Given the description of an element on the screen output the (x, y) to click on. 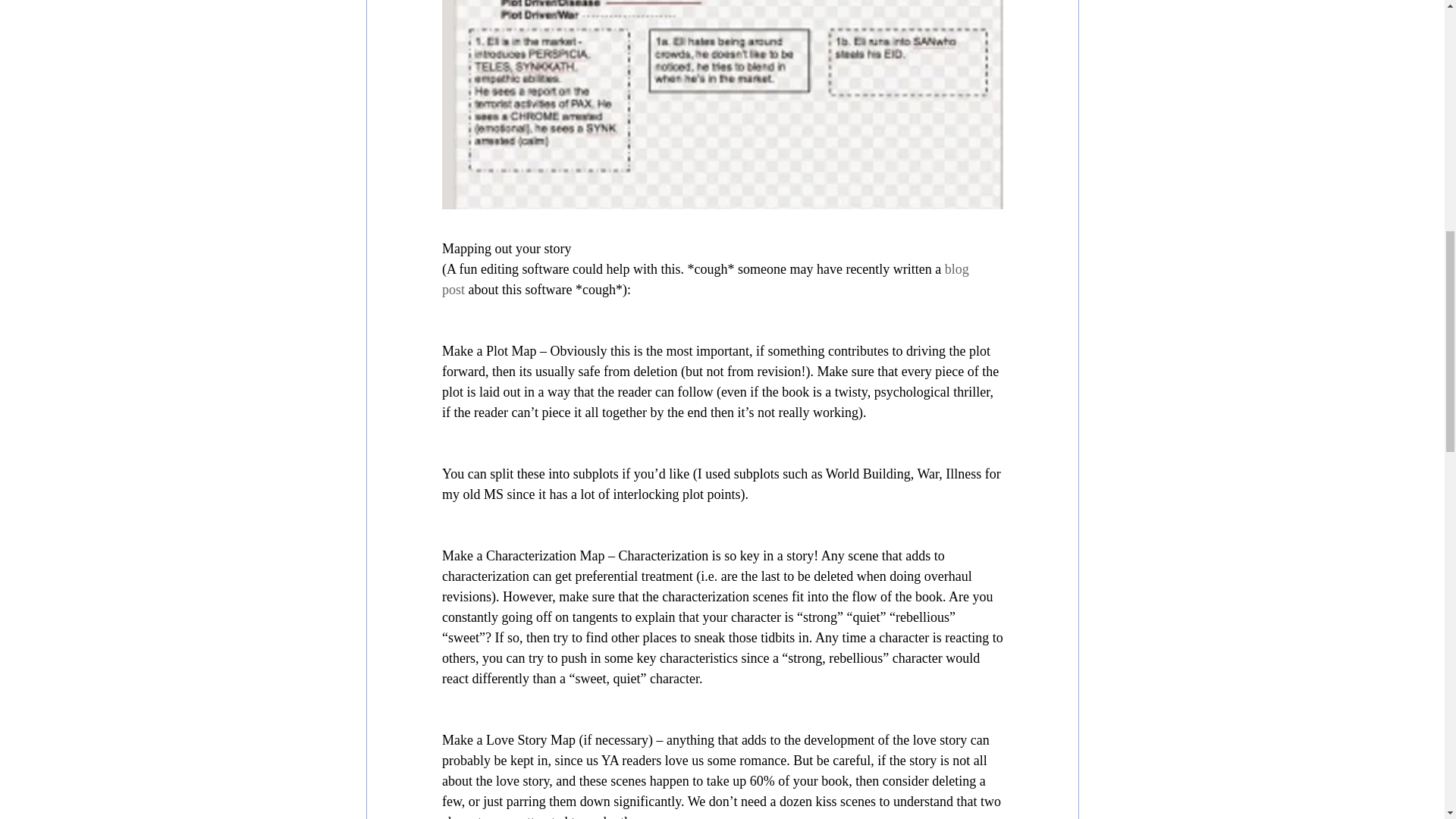
blog post (706, 279)
